Given the description of an element on the screen output the (x, y) to click on. 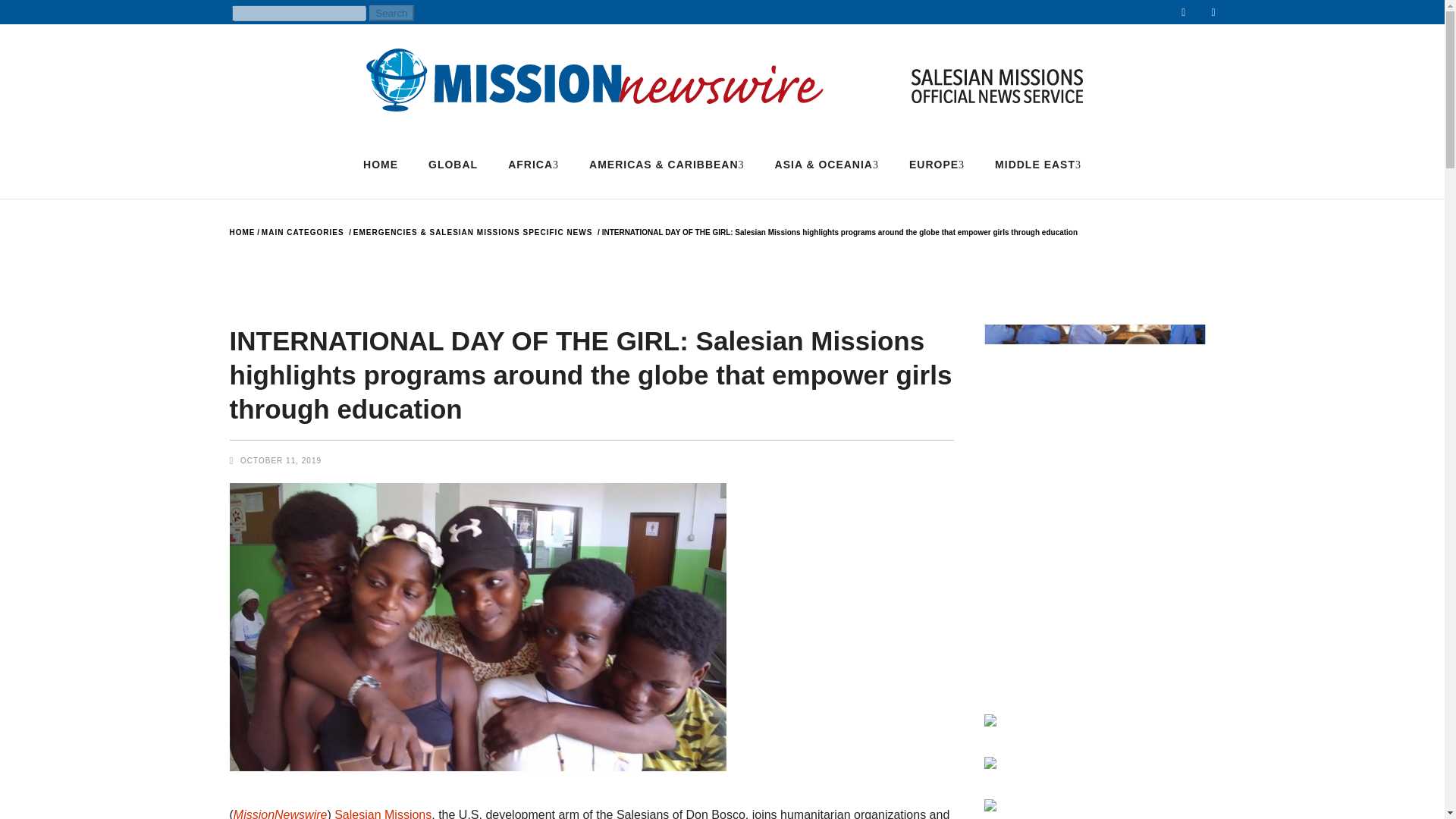
Search (391, 12)
AFRICA (533, 164)
GLOBAL (453, 164)
Search (391, 12)
HOME (380, 164)
